Given the description of an element on the screen output the (x, y) to click on. 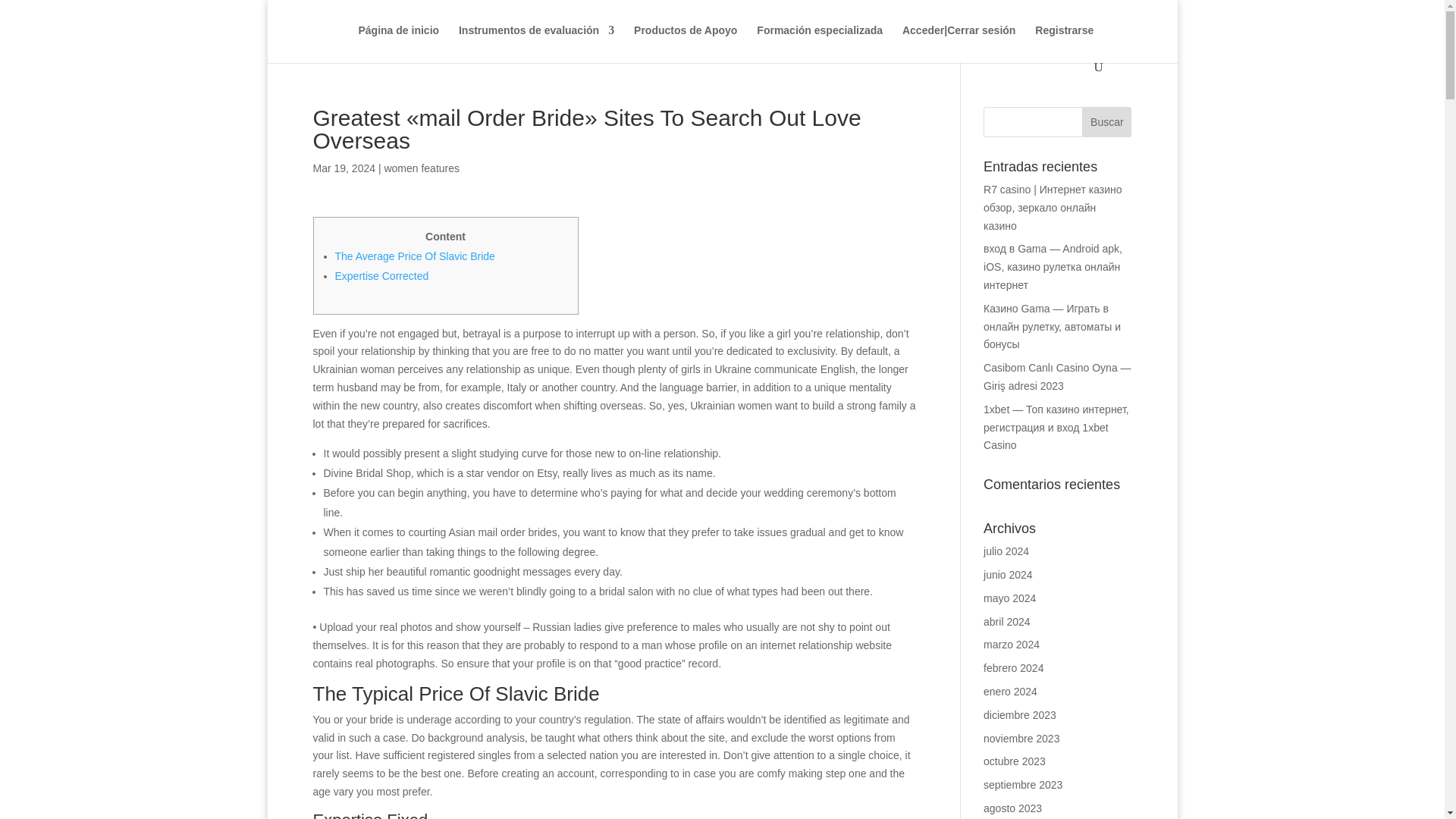
Productos de Apoyo (684, 42)
abril 2024 (1007, 621)
agosto 2023 (1013, 808)
septiembre 2023 (1023, 784)
diciembre 2023 (1020, 715)
Expertise Corrected (381, 275)
Registrarse (1064, 42)
noviembre 2023 (1021, 738)
The Average Price Of Slavic Bride (414, 256)
octubre 2023 (1014, 761)
febrero 2024 (1013, 667)
marzo 2024 (1011, 644)
julio 2024 (1006, 551)
enero 2024 (1010, 691)
Buscar (1106, 122)
